Given the description of an element on the screen output the (x, y) to click on. 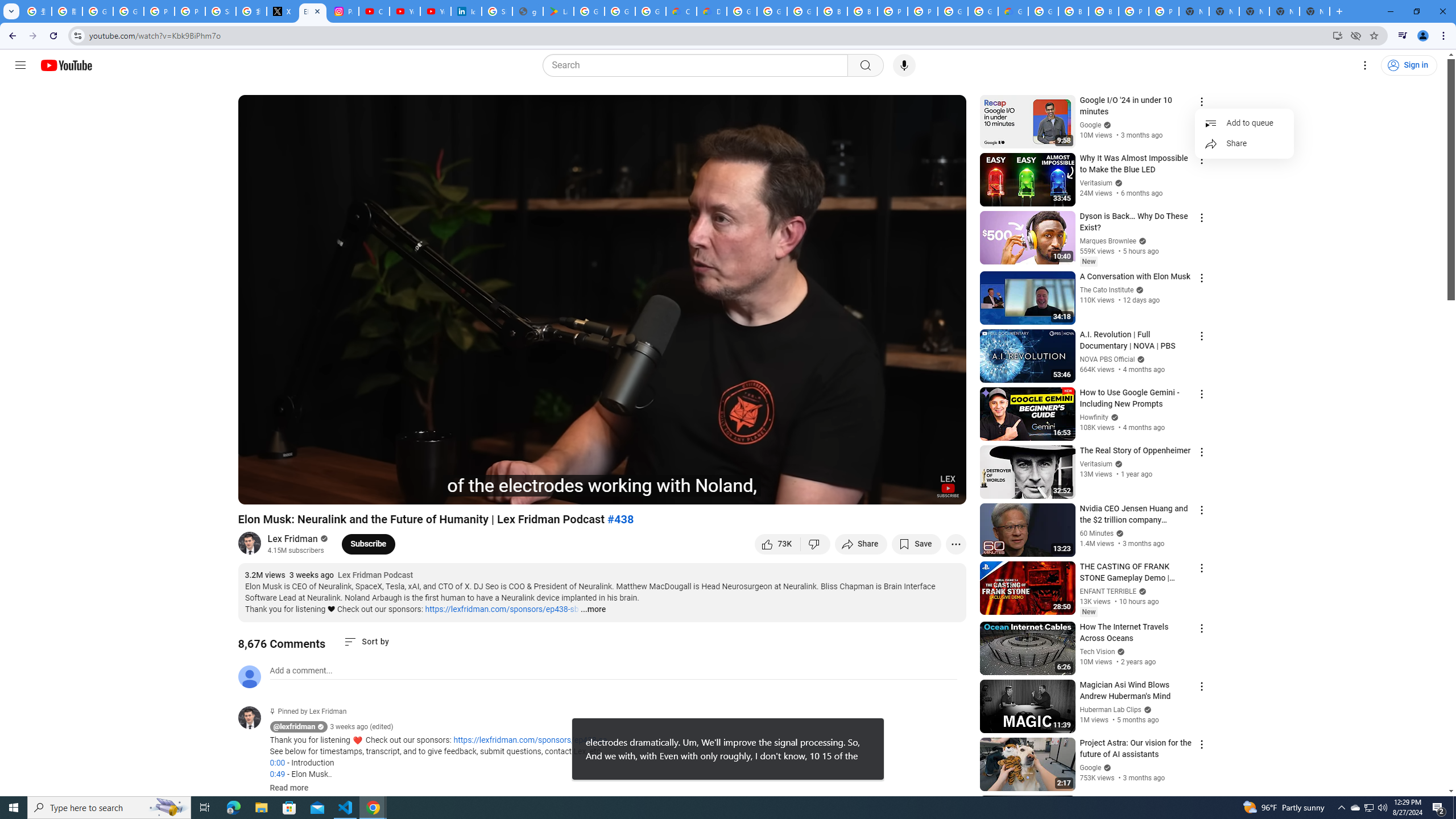
Action menu (1200, 802)
https://lexfridman.com/sponsors/ep438-sb (502, 609)
Google Workspace - Specific Terms (650, 11)
Sort comments (366, 641)
Lex Fridman Podcast (375, 575)
Elon Musk (403, 490)
Share (1243, 143)
Theater mode (t) (917, 490)
